Given the description of an element on the screen output the (x, y) to click on. 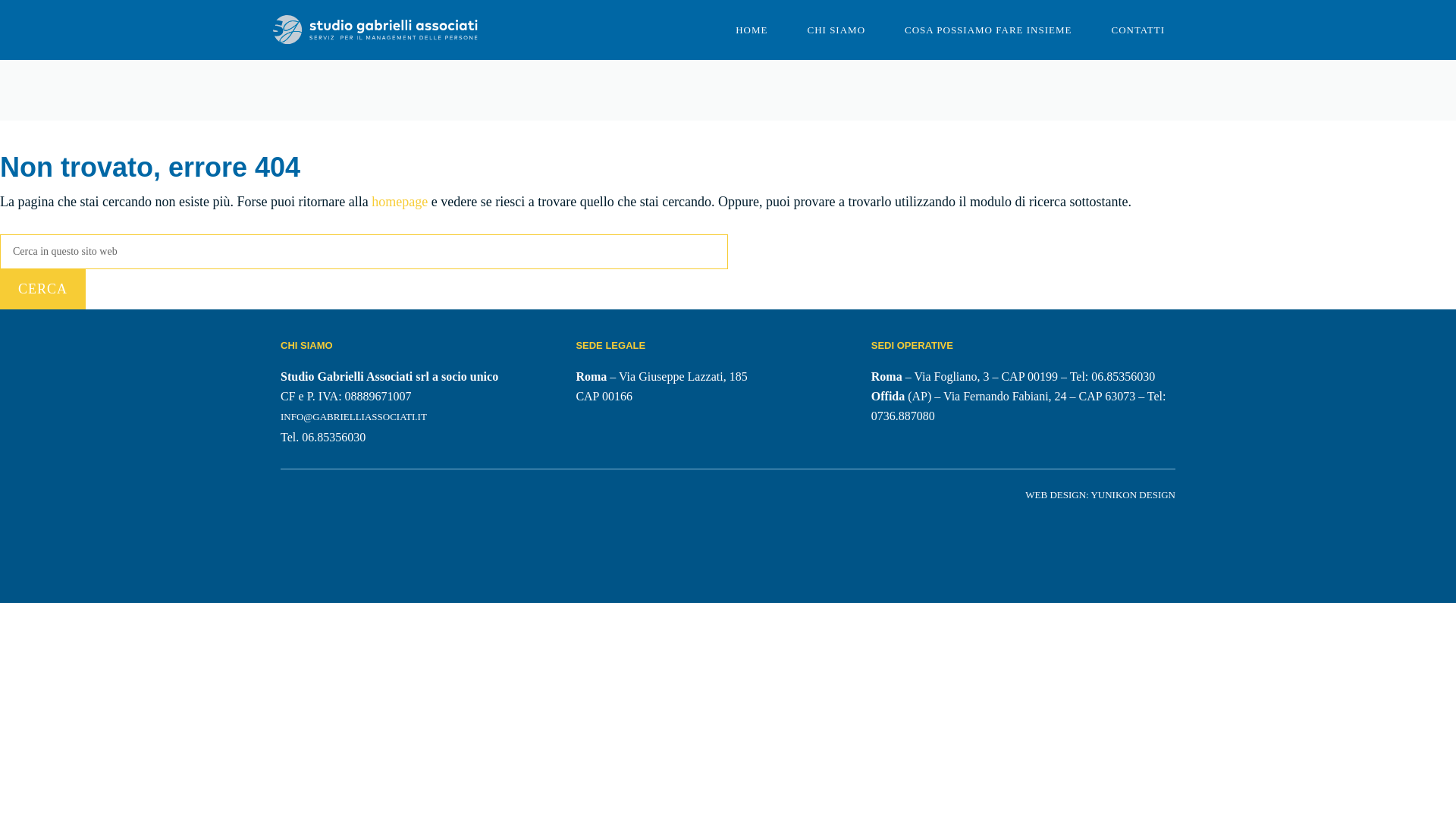
CHI SIAMO (836, 29)
Gabrielli Associati (375, 30)
Cerca (42, 289)
Cerca (42, 289)
CONTATTI (1137, 29)
Cerca (42, 289)
Gabrielli Associati (375, 29)
COSA POSSIAMO FARE INSIEME (987, 29)
WEB DESIGN: YUNIKON DESIGN (1099, 494)
HOME (751, 29)
